Given the description of an element on the screen output the (x, y) to click on. 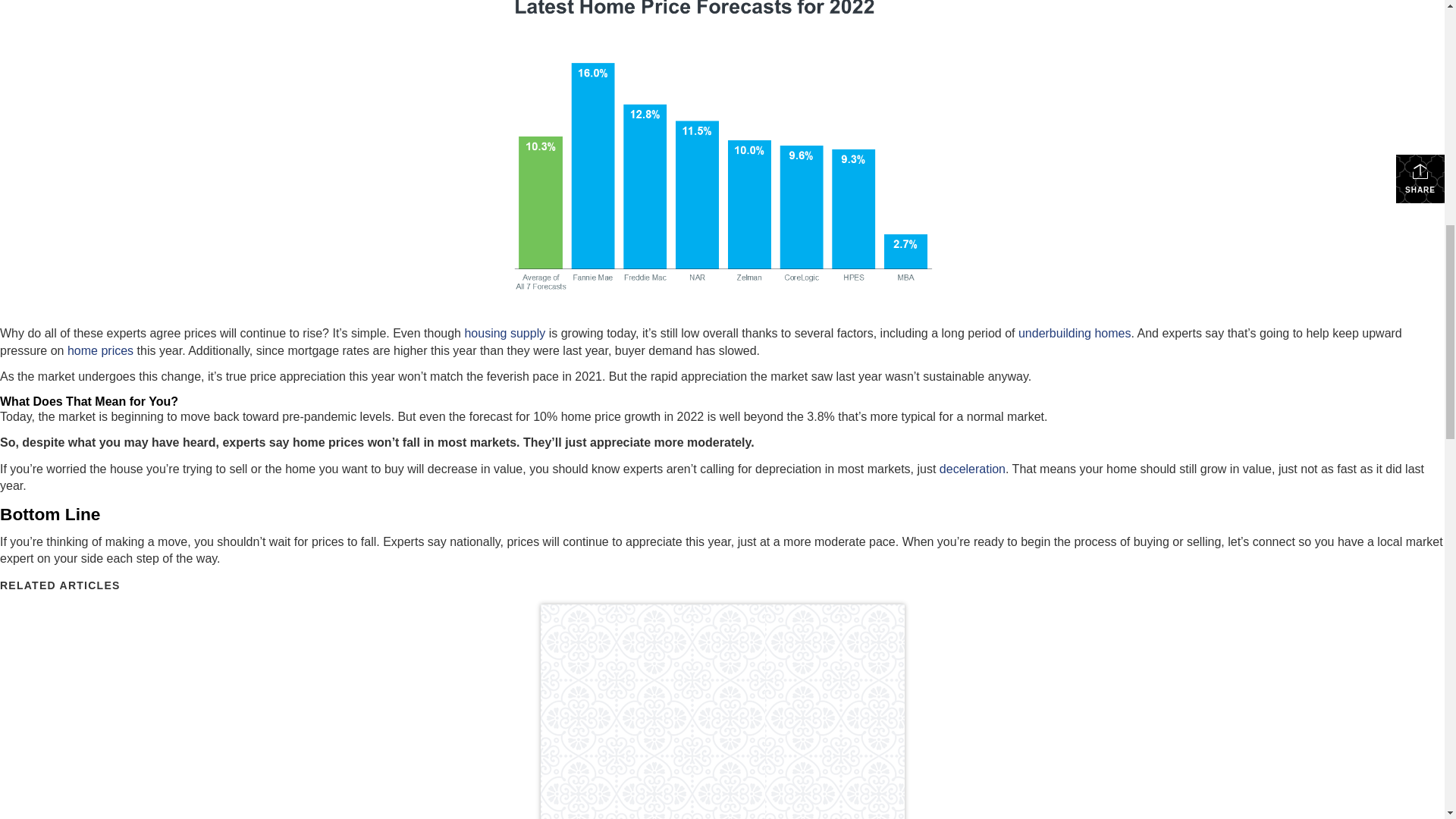
underbuilding homes (1074, 332)
home prices (99, 350)
deceleration (972, 468)
housing supply (504, 332)
